Given the description of an element on the screen output the (x, y) to click on. 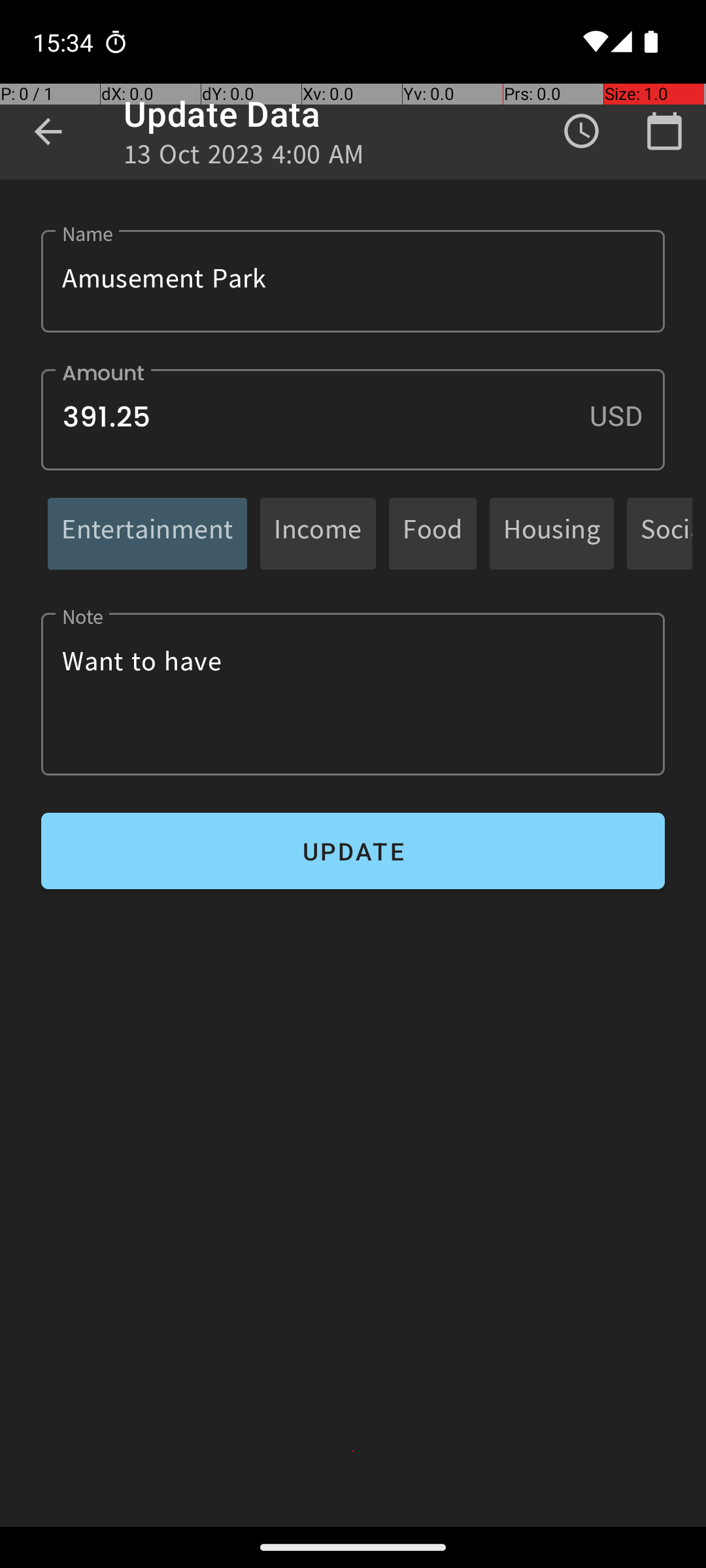
13 Oct 2023 4:00 AM Element type: android.widget.TextView (243, 157)
Amusement Park Element type: android.widget.EditText (352, 280)
391.25 Element type: android.widget.EditText (352, 419)
